Given the description of an element on the screen output the (x, y) to click on. 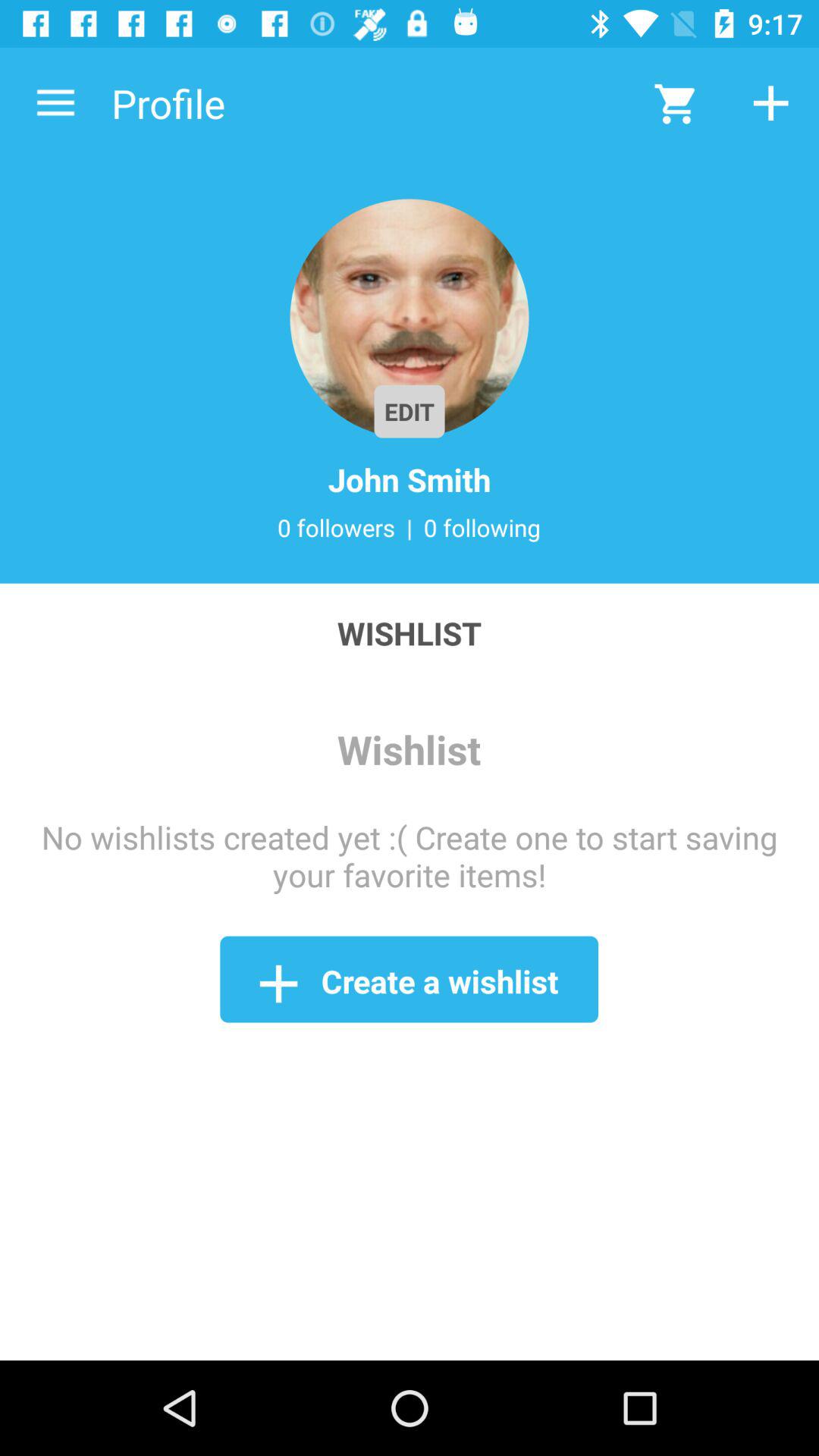
tap icon above wishlist icon (409, 527)
